Given the description of an element on the screen output the (x, y) to click on. 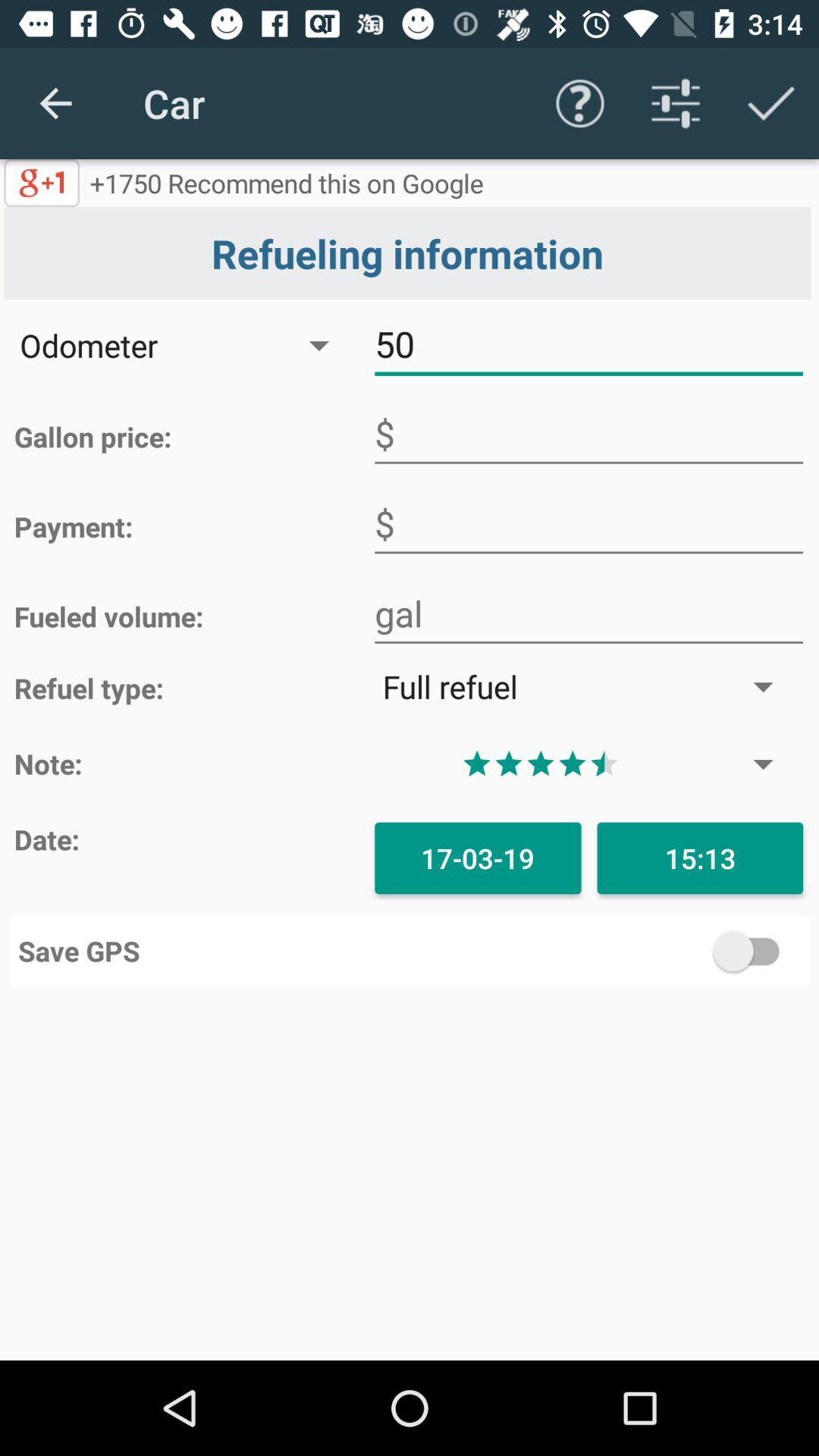
answer (588, 524)
